Given the description of an element on the screen output the (x, y) to click on. 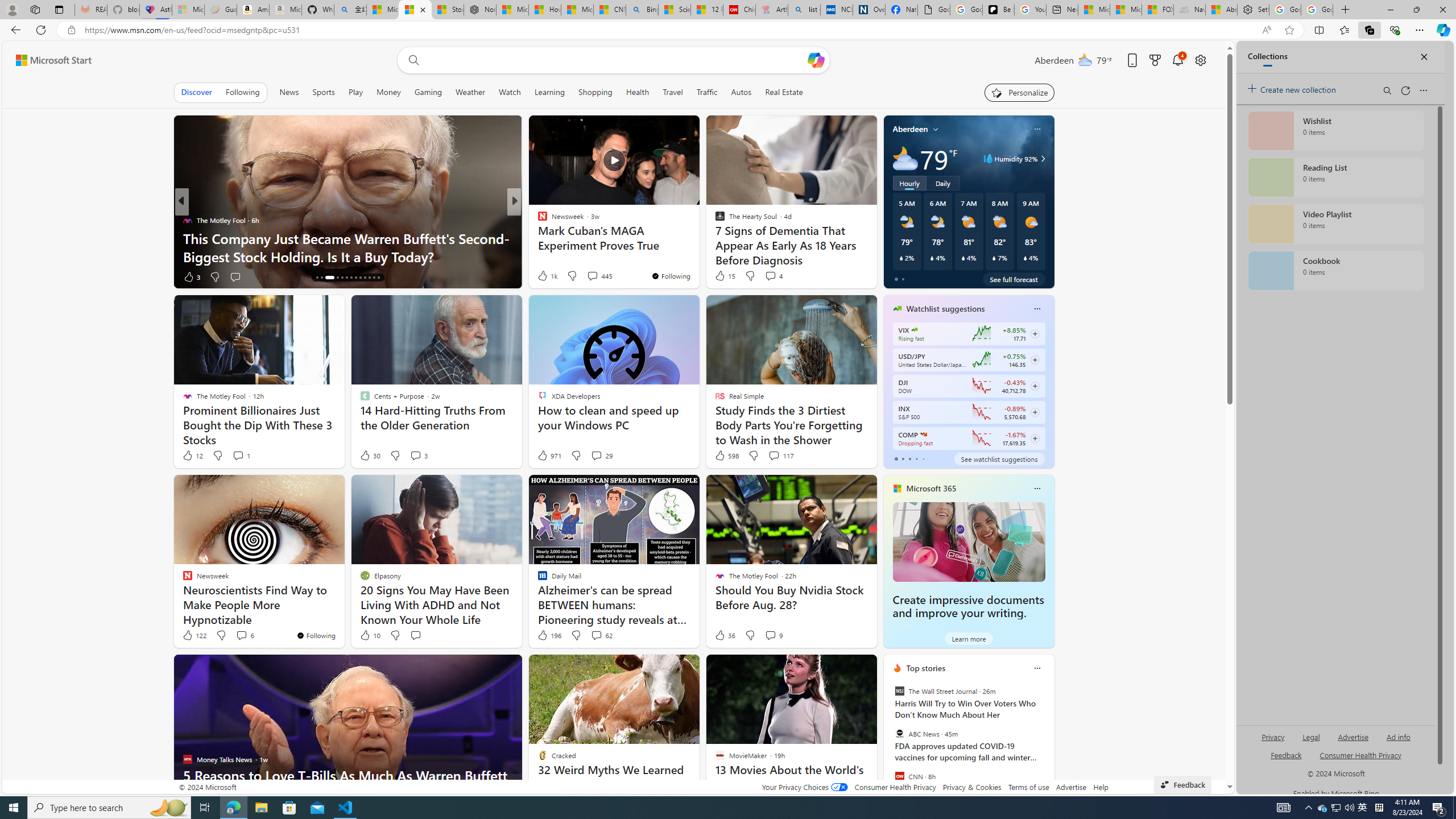
3 Like (191, 276)
Daily (942, 183)
103 Like (545, 276)
Sports (323, 92)
tab-2 (908, 458)
CNN - MSN (609, 9)
AutomationID: tab-26 (378, 277)
View comments 445 Comment (599, 275)
View comments 88 Comment (592, 276)
